Given the description of an element on the screen output the (x, y) to click on. 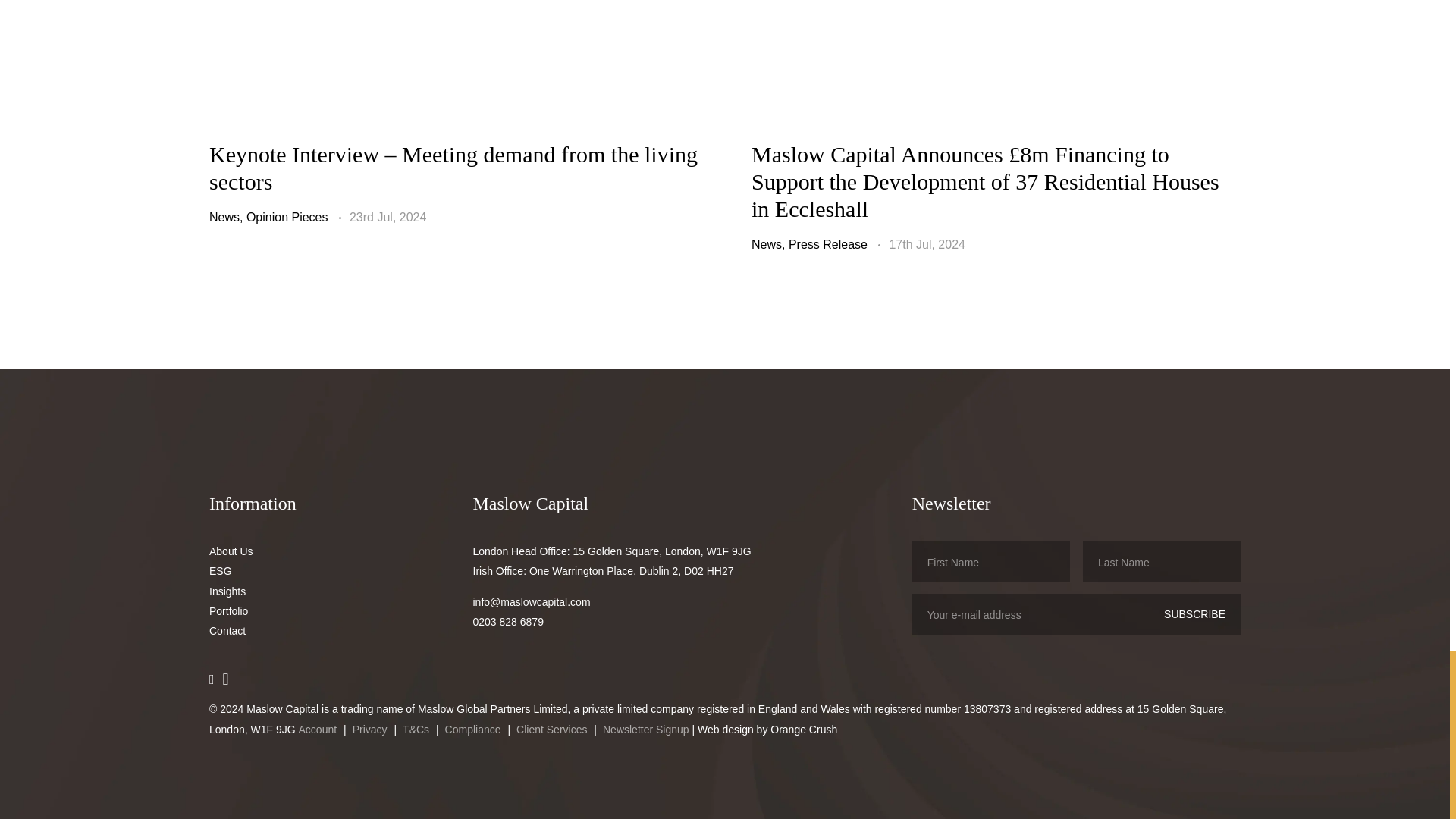
Subscribe (1194, 613)
News, Opinion Pieces (269, 217)
ESG (220, 570)
Subscribe (1194, 613)
News, Press Release (809, 244)
Portfolio (228, 610)
Insights (227, 591)
Contact (227, 630)
About Us (231, 551)
